Given the description of an element on the screen output the (x, y) to click on. 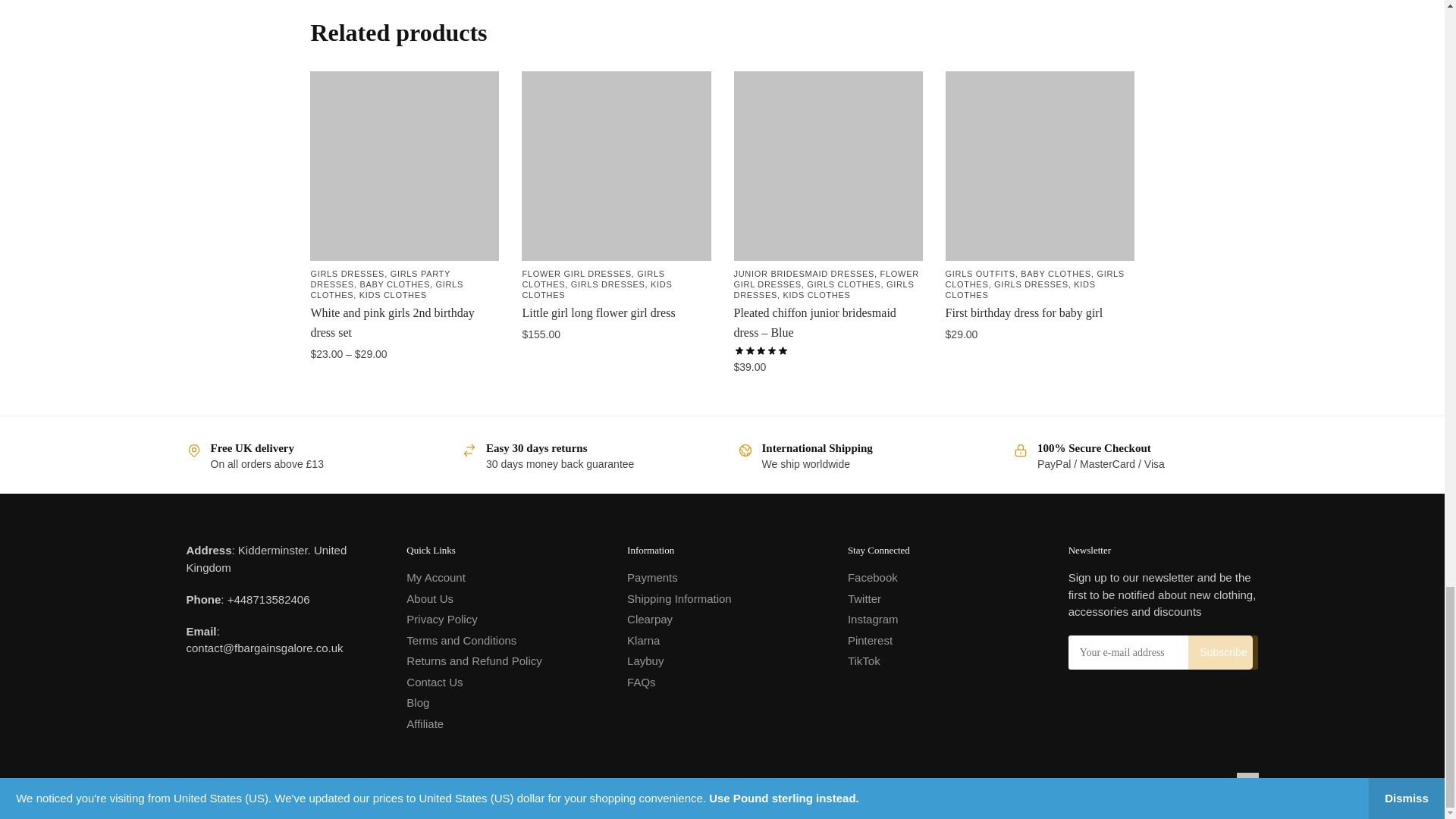
Subscribe (1222, 652)
